Given the description of an element on the screen output the (x, y) to click on. 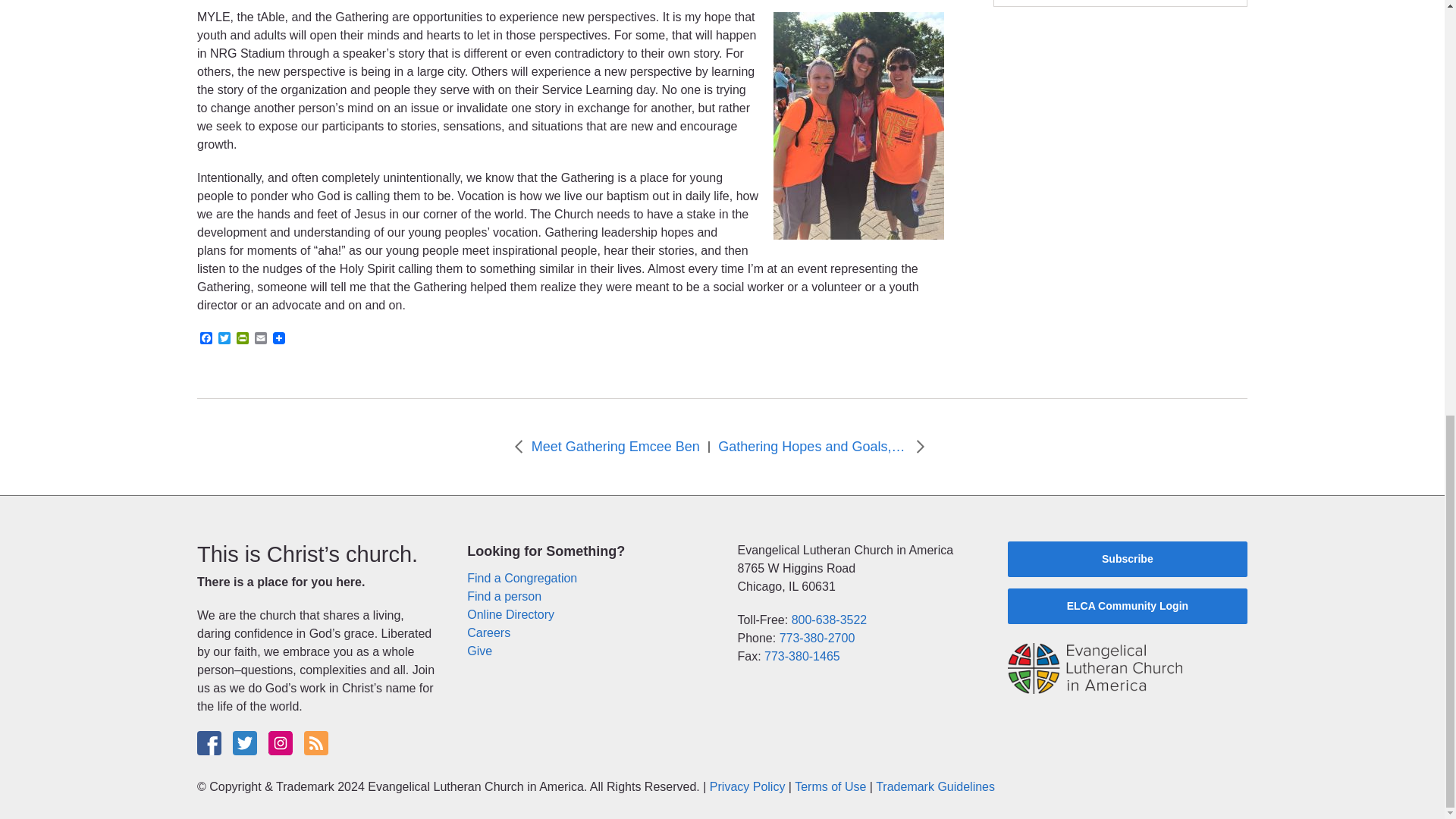
Facebook (205, 339)
PrintFriendly (241, 339)
Twitter (223, 339)
Twitter (223, 339)
Email (260, 339)
Facebook (205, 339)
PrintFriendly (241, 339)
Email (260, 339)
Gathering Hopes and Goals, Part II (812, 446)
Meet Gathering Emcee Ben (615, 446)
